Given the description of an element on the screen output the (x, y) to click on. 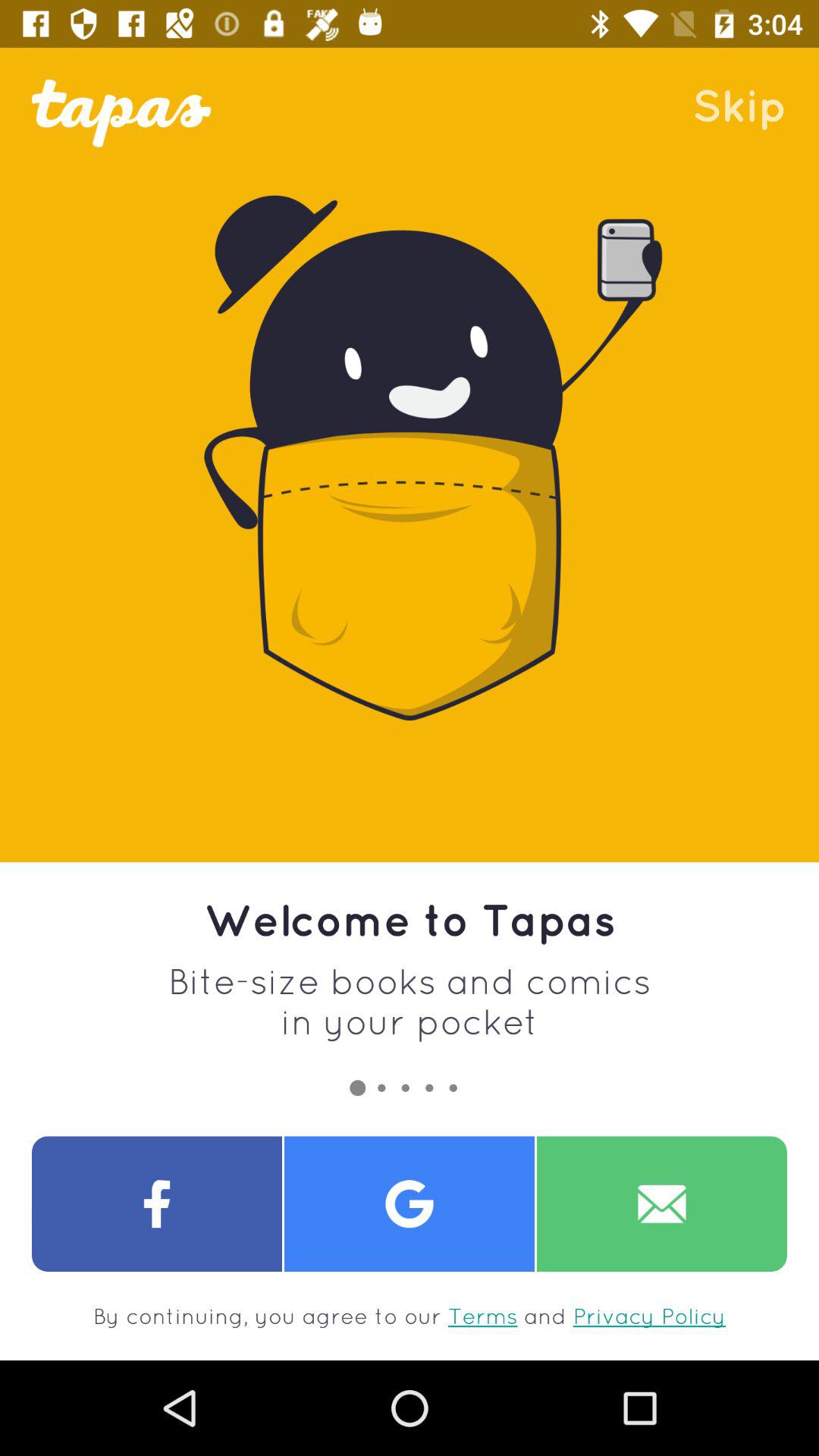
facebook page (156, 1203)
